Given the description of an element on the screen output the (x, y) to click on. 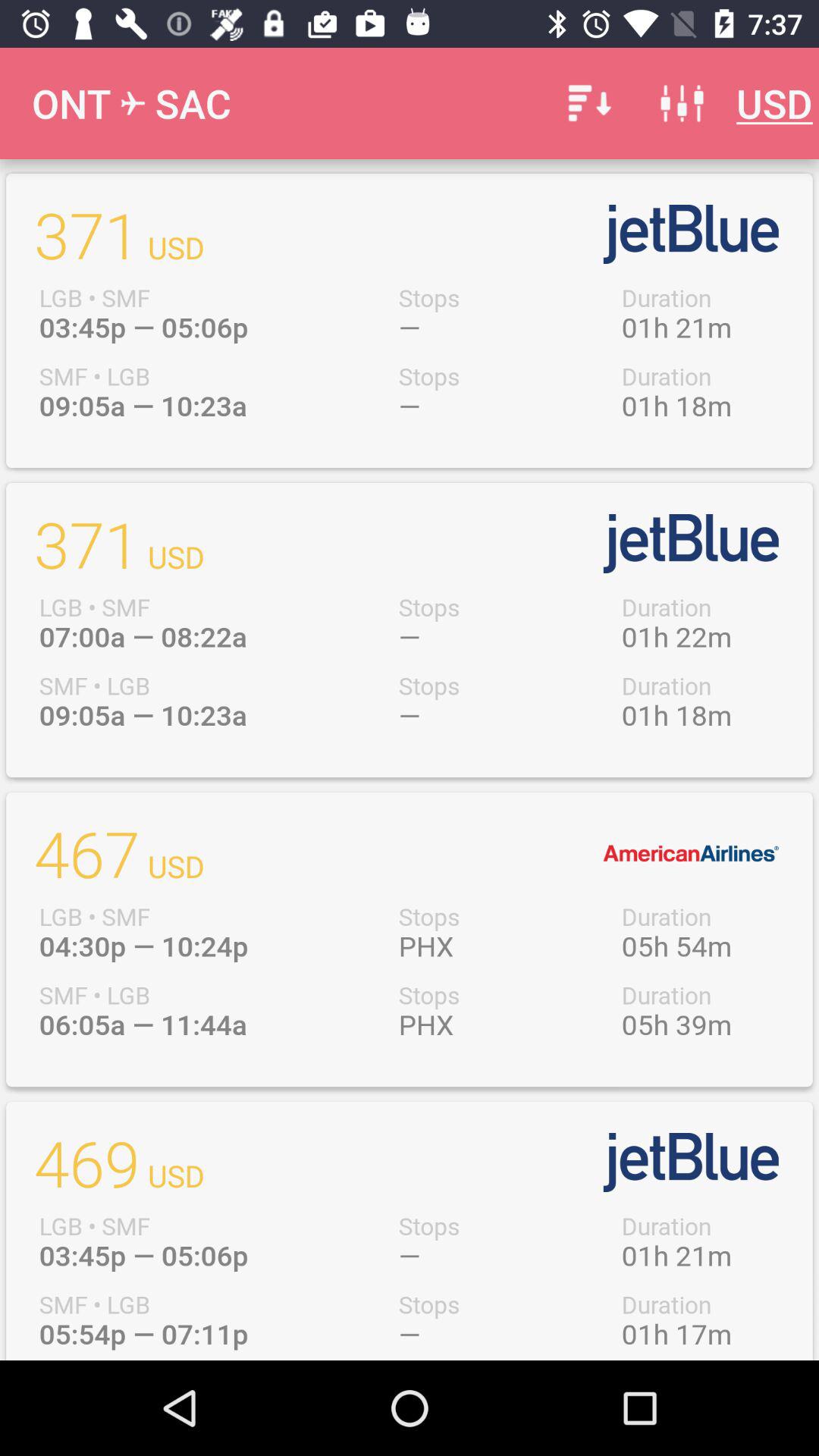
turn on item to the right of sac icon (586, 103)
